Given the description of an element on the screen output the (x, y) to click on. 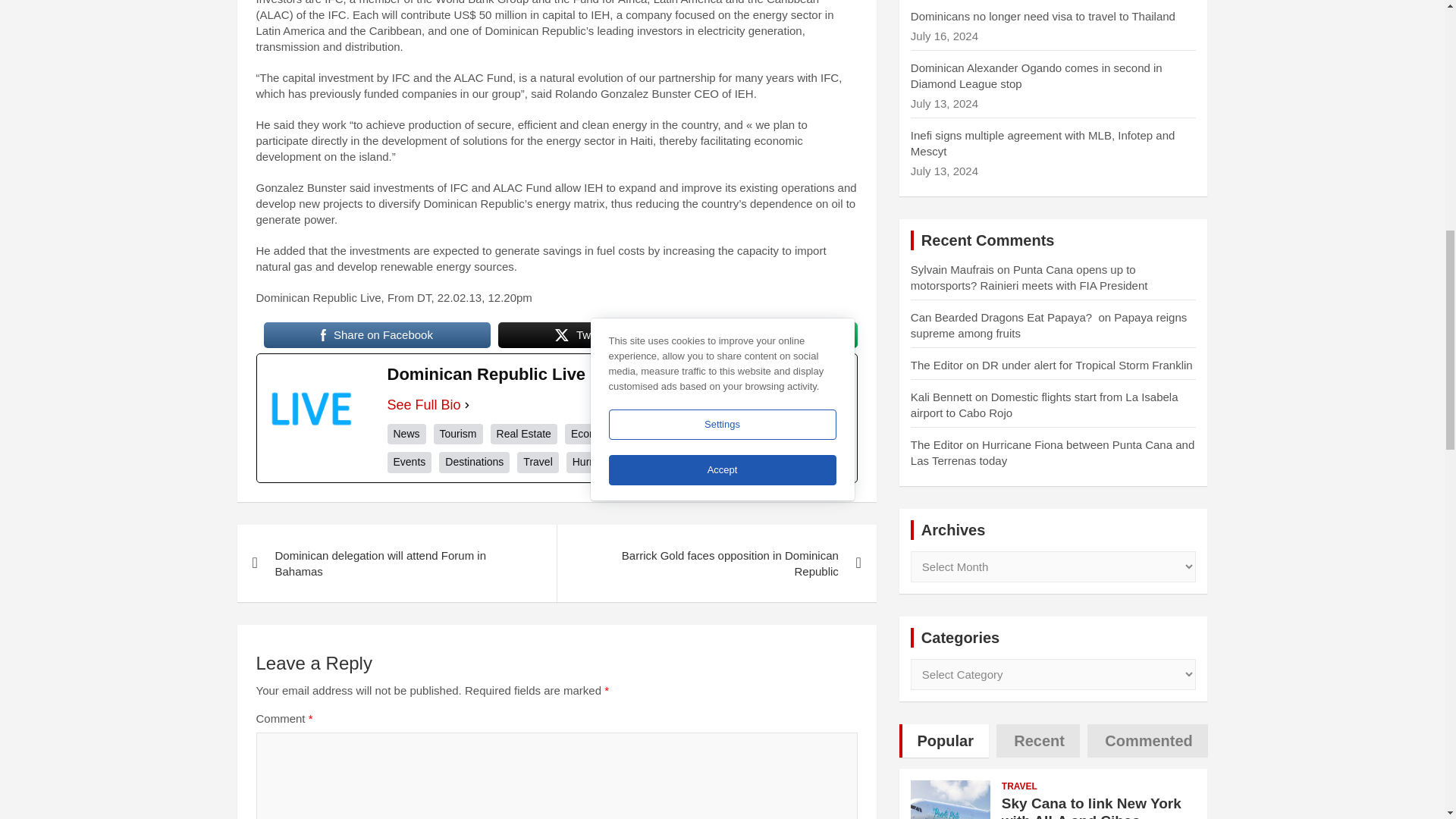
Follow us (764, 335)
Dominican delegation will attend Forum in Bahamas (395, 562)
Tweet (580, 335)
See Full Bio (423, 404)
Share on Facebook (376, 335)
Barrick Gold faces opposition in Dominican Republic (716, 562)
